Given the description of an element on the screen output the (x, y) to click on. 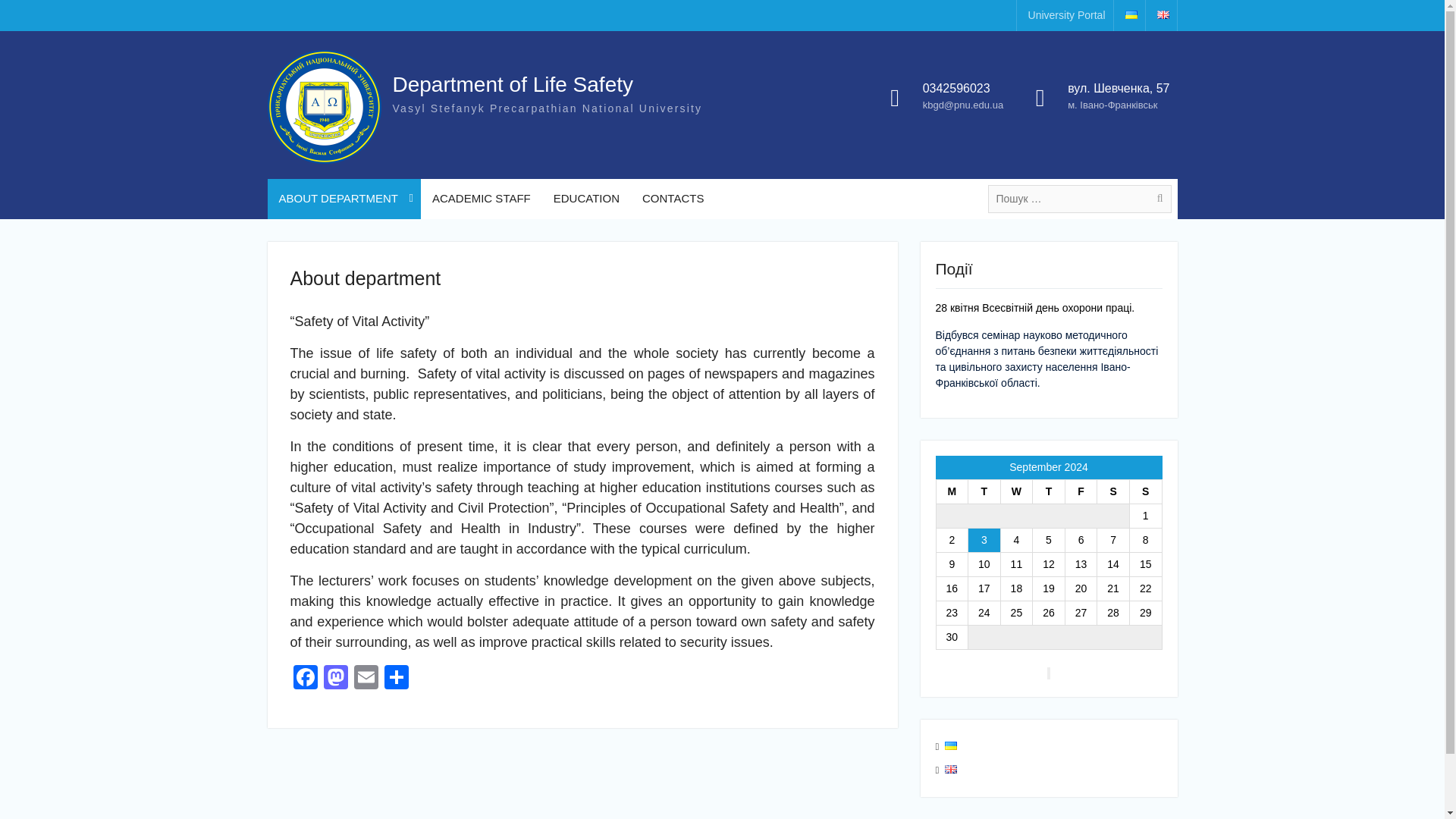
Department of Life Safety (513, 84)
Facebook (304, 678)
Email (365, 678)
EDUCATION (585, 199)
Wednesday (1016, 491)
Sunday (1145, 491)
ABOUT DEPARTMENT (343, 199)
Tuesday (984, 491)
Friday (1080, 491)
0342596023 (962, 88)
